Given the description of an element on the screen output the (x, y) to click on. 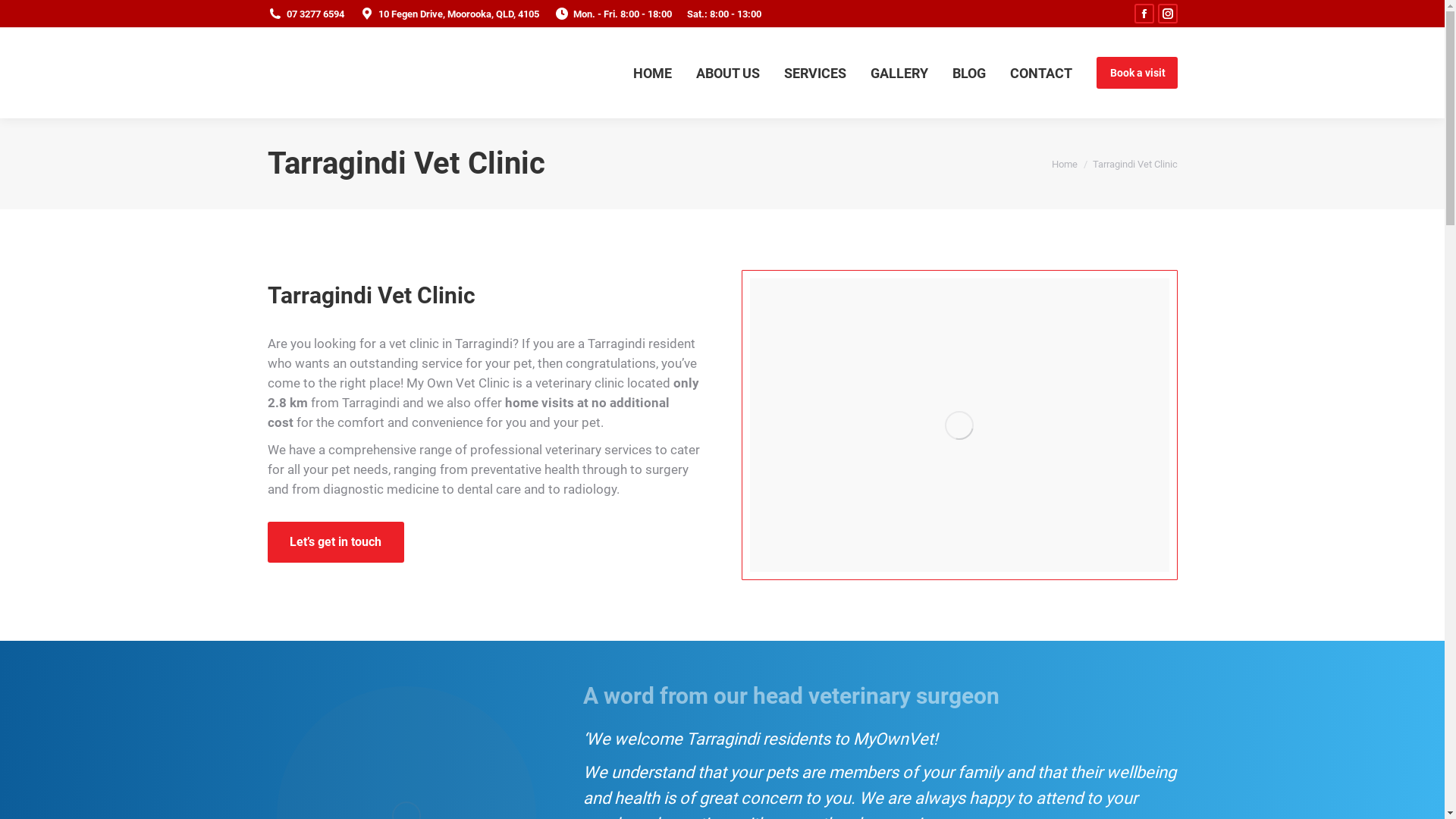
Instagram page opens in new window Element type: text (1166, 13)
BLOG Element type: text (968, 72)
Home Element type: text (1063, 163)
SERVICES Element type: text (815, 72)
CONTACT Element type: text (1041, 72)
Book a visit Element type: text (1136, 72)
HOME Element type: text (651, 72)
Facebook page opens in new window Element type: text (1144, 13)
ABOUT US Element type: text (727, 72)
GALLERY Element type: text (899, 72)
